Given the description of an element on the screen output the (x, y) to click on. 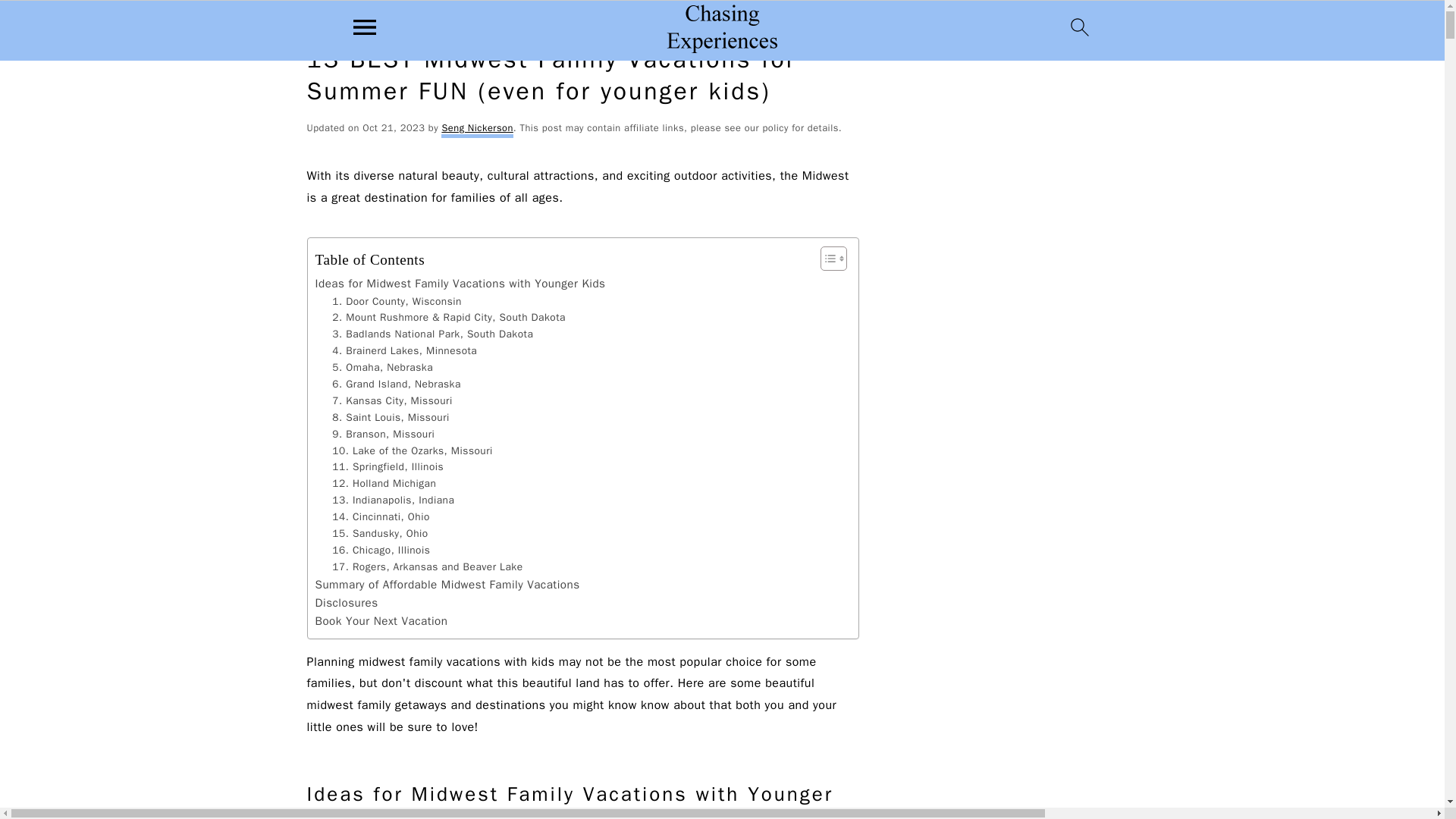
1. Door County, Wisconsin (396, 301)
12. Holland Michigan (383, 483)
7. Kansas City, Missouri (391, 401)
5. Omaha, Nebraska (381, 367)
Seng Nickerson (476, 130)
menu icon (365, 26)
10. Lake of the Ozarks, Missouri (412, 451)
8. Saint Louis, Missouri (390, 417)
3. Badlands National Park, South Dakota (431, 334)
4. Brainerd Lakes, Minnesota (404, 351)
